Given the description of an element on the screen output the (x, y) to click on. 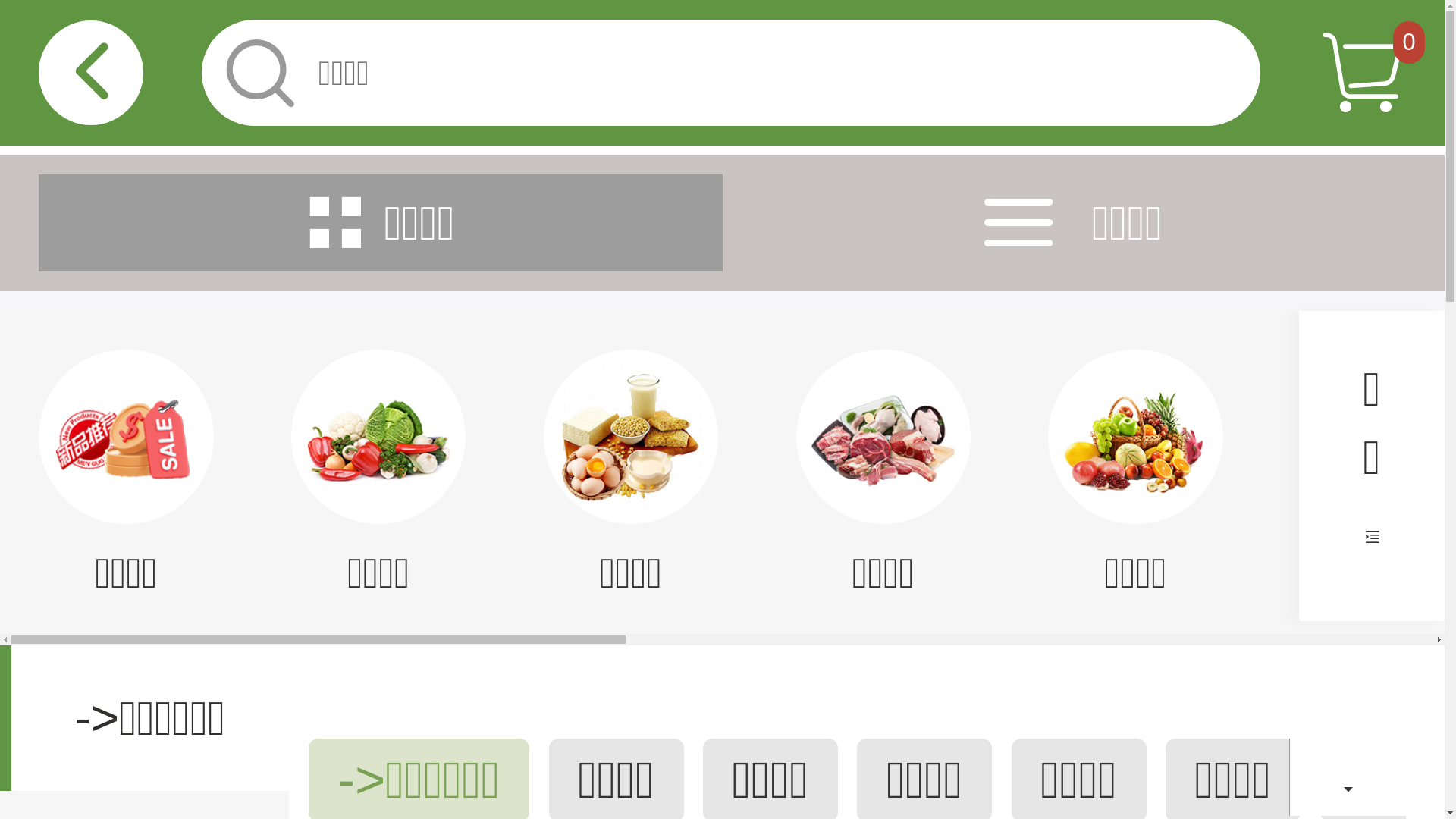
0 Element type: text (1409, 42)
